Given the description of an element on the screen output the (x, y) to click on. 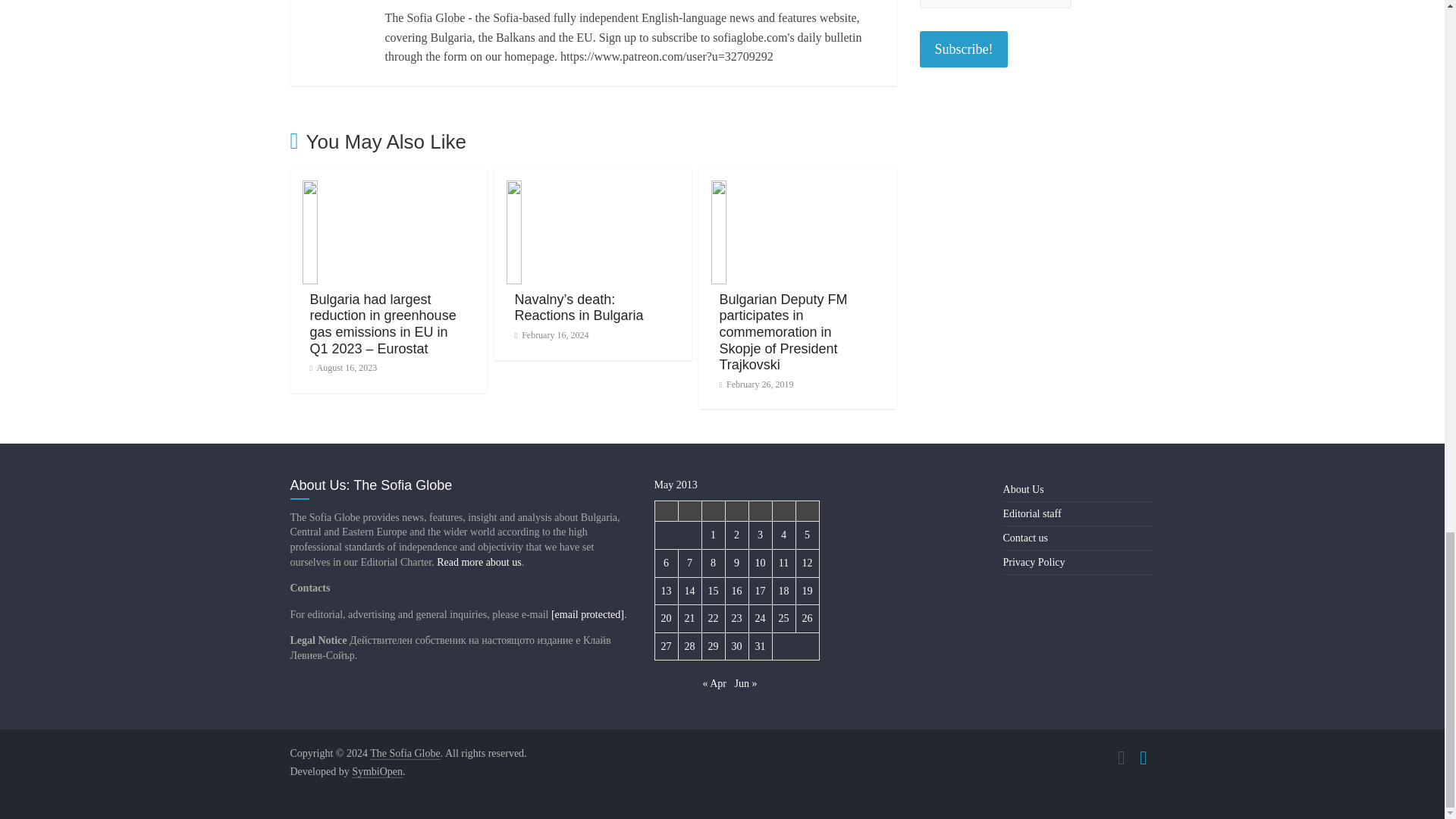
4:50 PM (550, 335)
7:05 PM (342, 367)
August 16, 2023 (342, 367)
Subscribe! (962, 49)
February 16, 2024 (550, 335)
February 26, 2019 (756, 384)
